Given the description of an element on the screen output the (x, y) to click on. 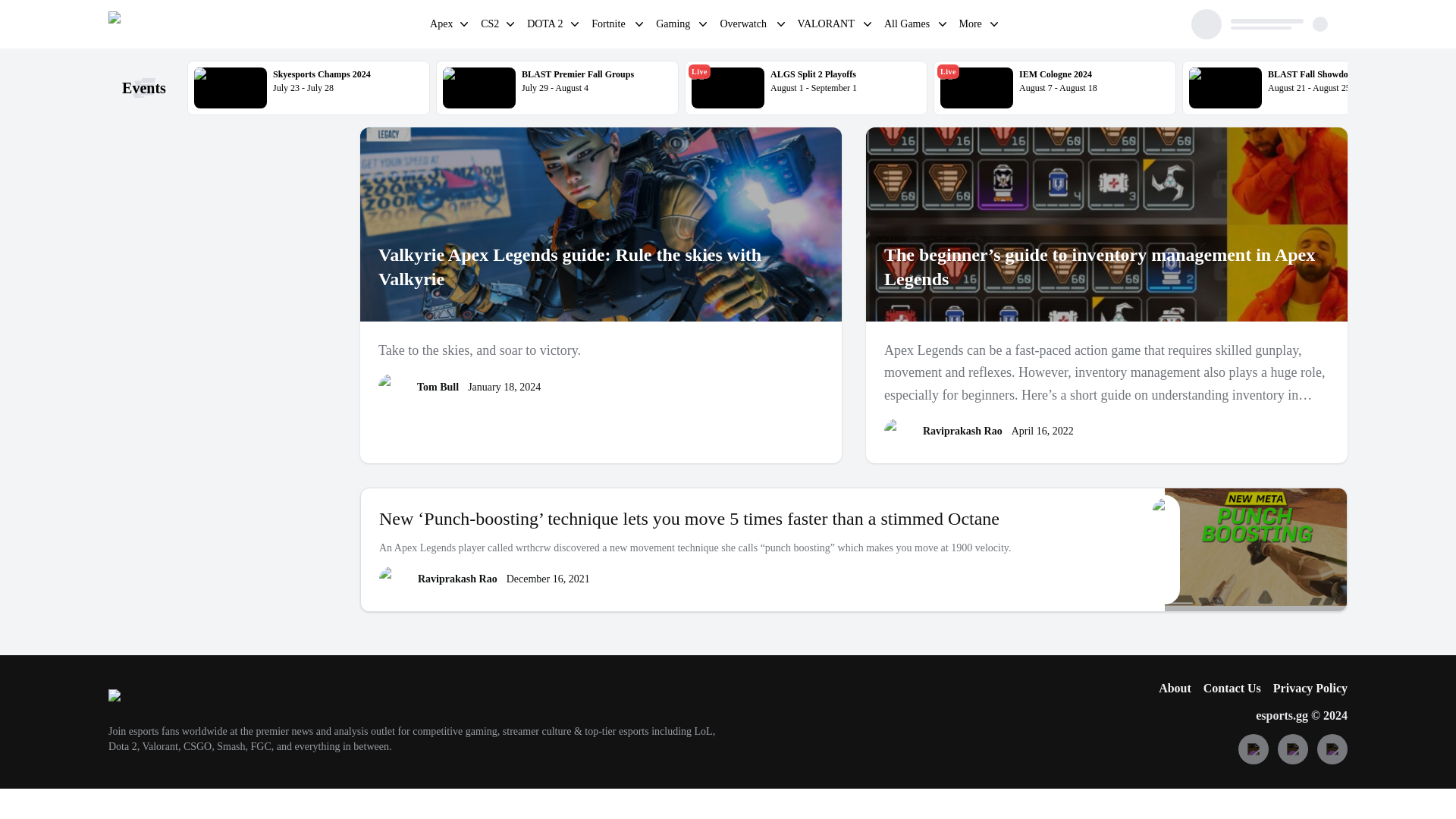
Contact Us (1232, 688)
DOTA 2 (545, 25)
VALORANT (827, 25)
Fortnite (1303, 87)
Apex (1054, 87)
About (609, 25)
CS2 (440, 25)
